Given the description of an element on the screen output the (x, y) to click on. 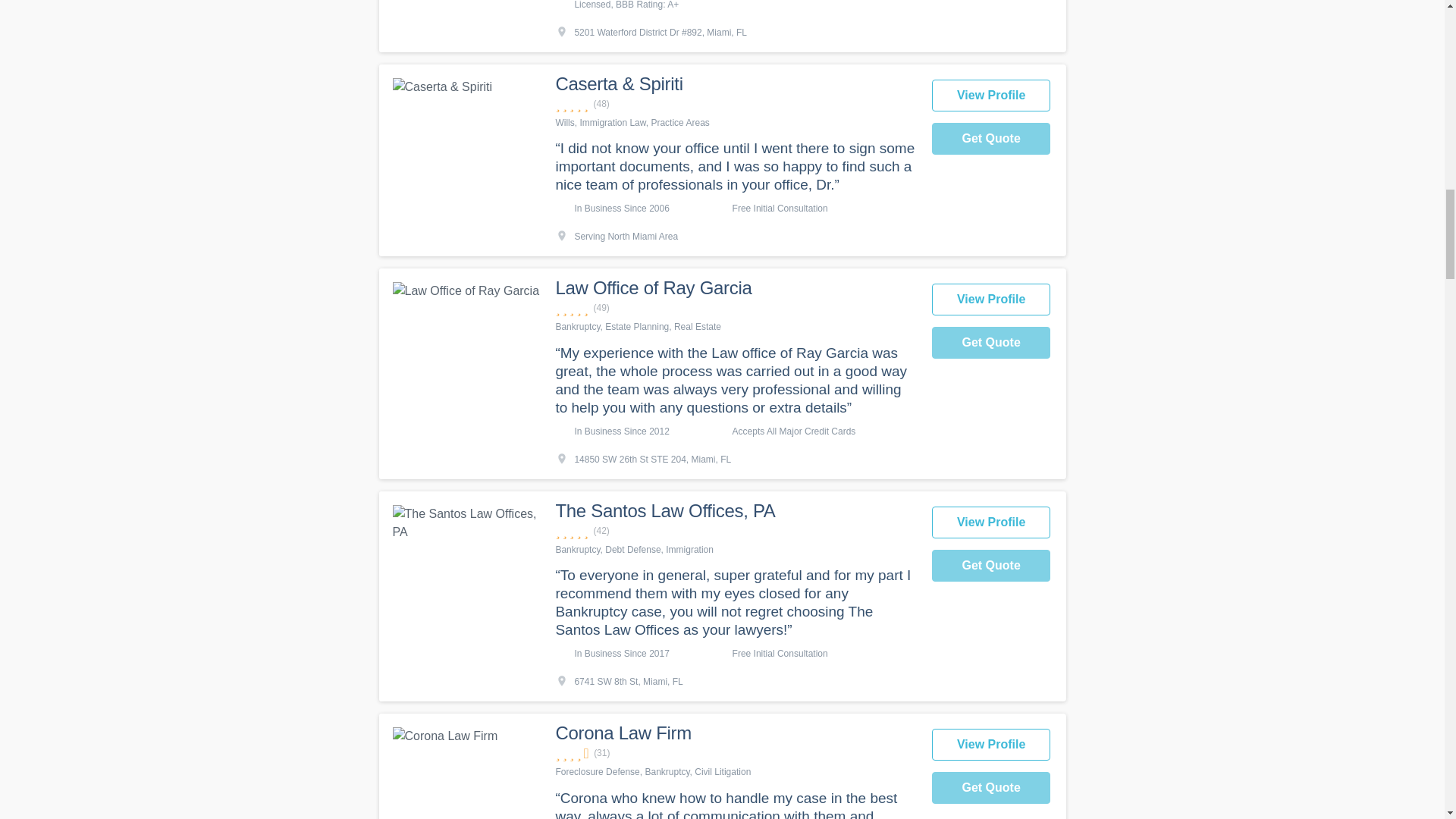
4.8 (734, 308)
4.9 (734, 104)
4.6 (734, 753)
4.7 (734, 531)
